Given the description of an element on the screen output the (x, y) to click on. 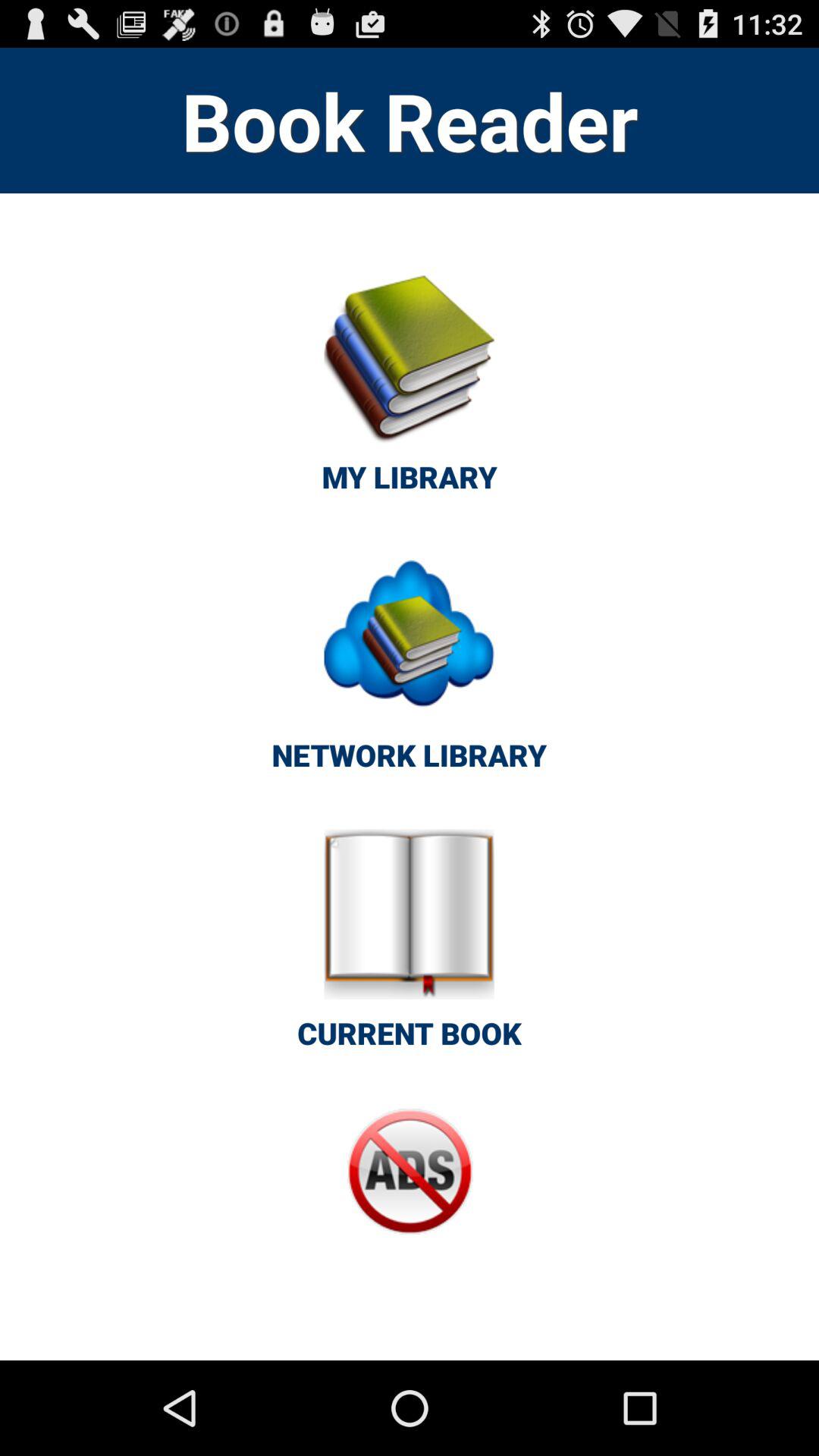
open button above the current book button (408, 670)
